Given the description of an element on the screen output the (x, y) to click on. 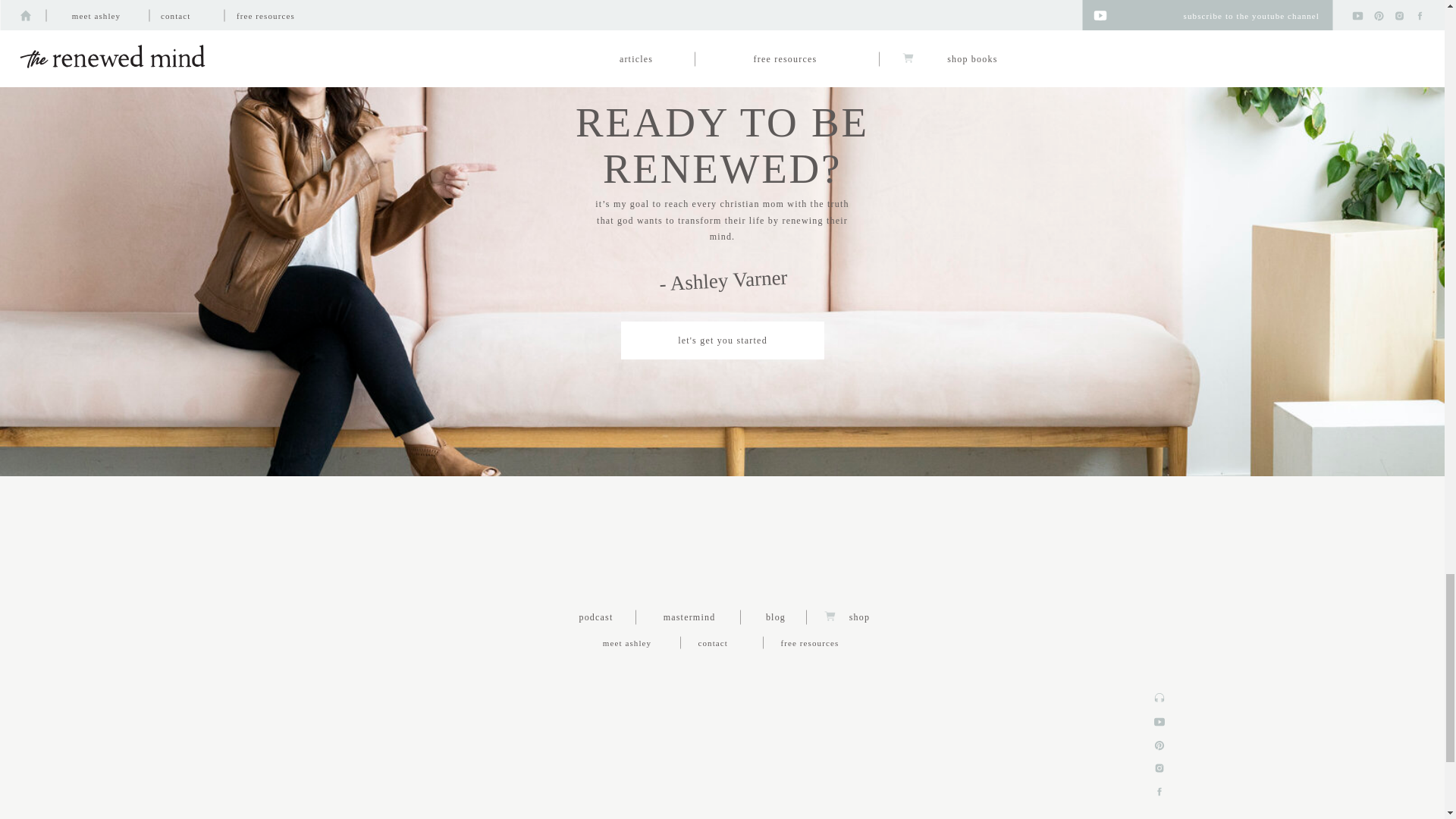
meet ashley (626, 642)
shop (859, 616)
blog (775, 616)
podcast (596, 616)
mastermind (688, 616)
free resources (828, 642)
contact (722, 642)
let's get you started (722, 339)
